Given the description of an element on the screen output the (x, y) to click on. 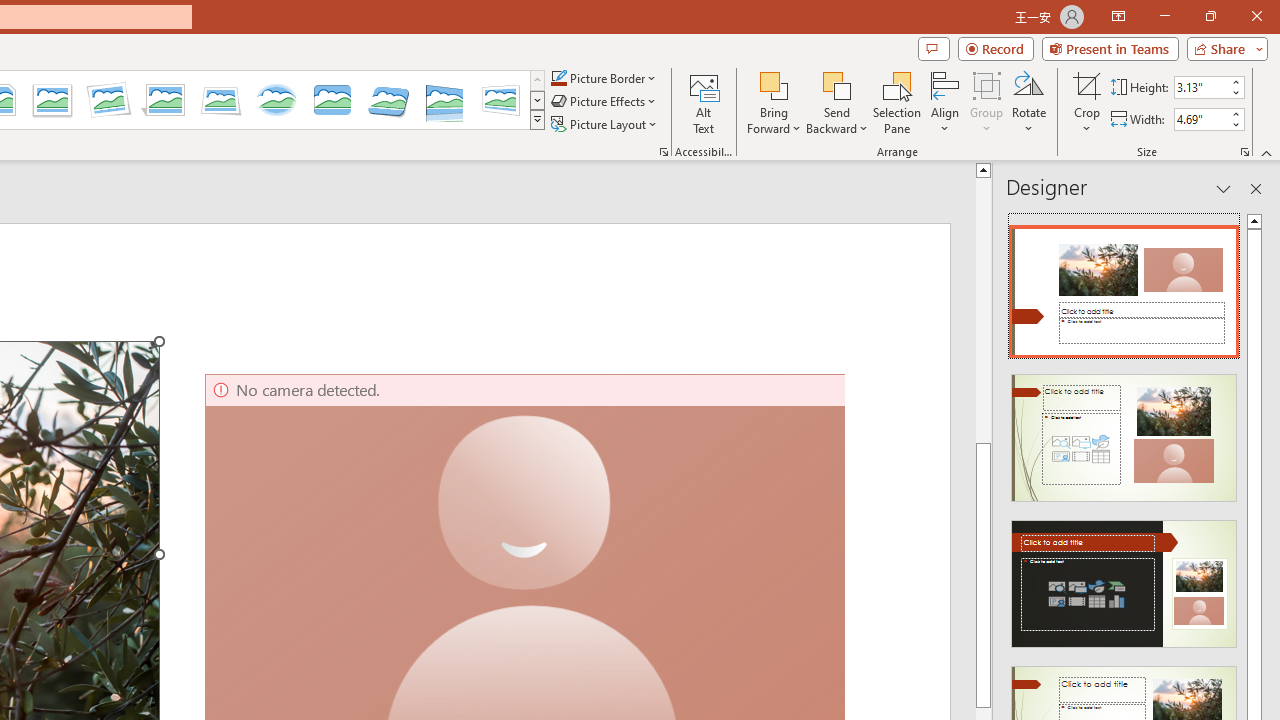
Picture Border (603, 78)
Picture Effects (605, 101)
Align (945, 102)
Reflected Perspective Right (445, 100)
Send Backward (836, 84)
Shape Height (1201, 87)
Bevel Rectangle (332, 100)
Recommended Design: Design Idea (1124, 286)
Shape Width (1201, 119)
